Given the description of an element on the screen output the (x, y) to click on. 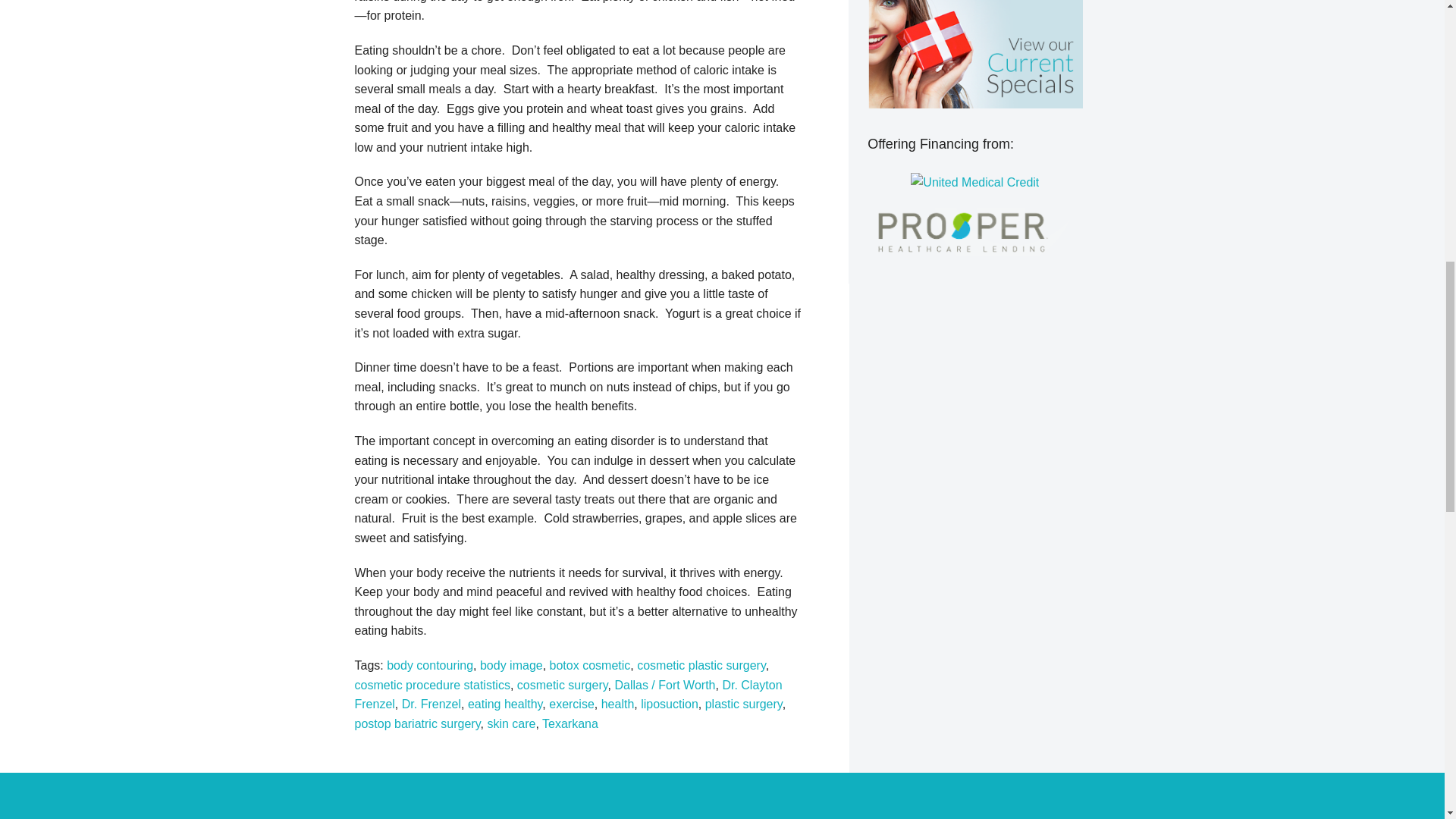
United Medical Credit (975, 182)
View Our Current Specials (974, 54)
Prosper Healthcare Lending (974, 232)
